Given the description of an element on the screen output the (x, y) to click on. 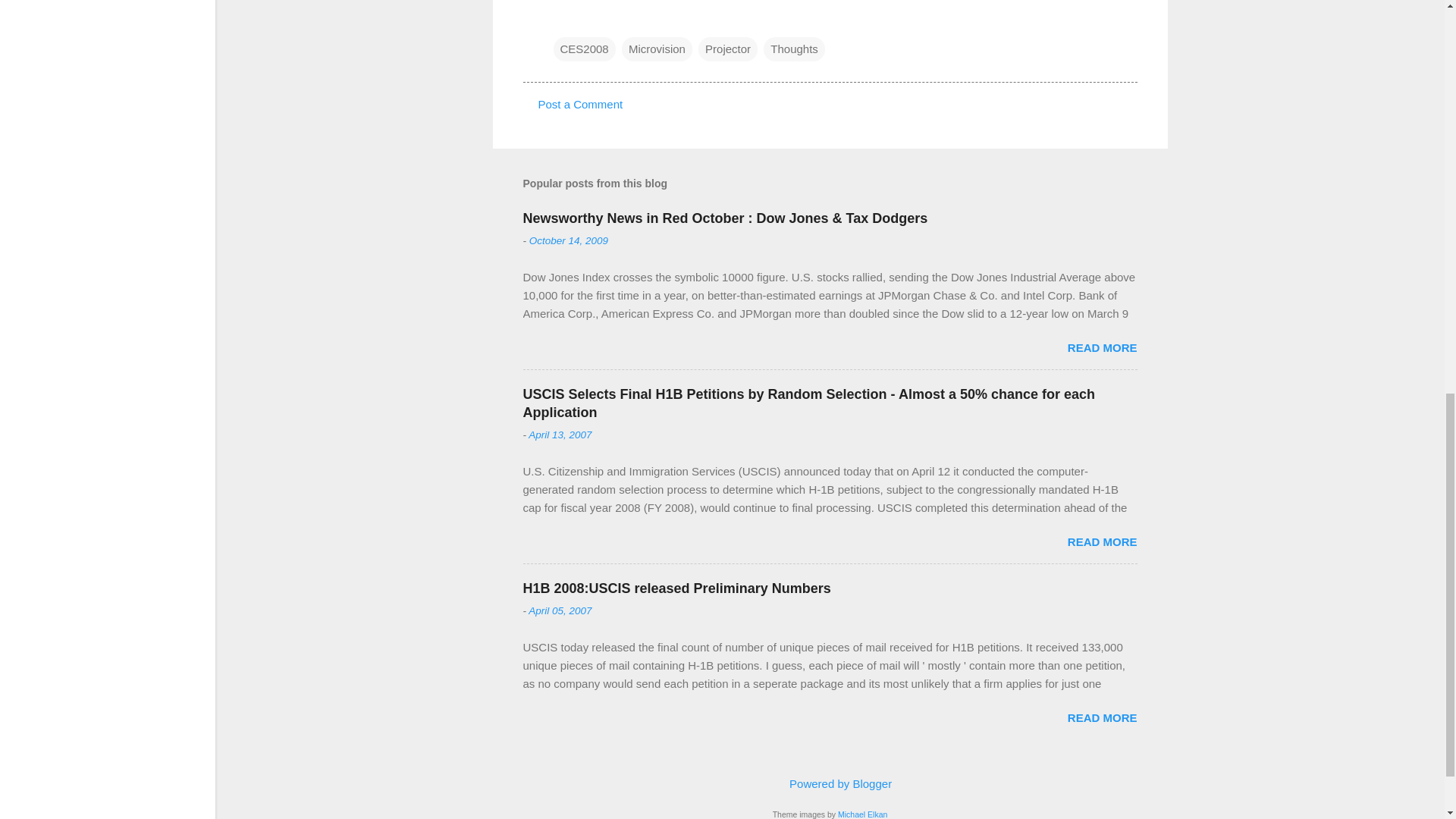
April 05, 2007 (559, 610)
Post a Comment (580, 103)
Microvision (657, 48)
Thoughts (793, 48)
CES2008 (584, 48)
READ MORE (1102, 541)
October 14, 2009 (568, 240)
READ MORE (1102, 347)
permanent link (568, 240)
H1B 2008:USCIS released Preliminary Numbers (676, 588)
READ MORE (1102, 717)
Michael Elkan (862, 814)
April 13, 2007 (559, 434)
Powered by Blogger (829, 783)
Projector (727, 48)
